Given the description of an element on the screen output the (x, y) to click on. 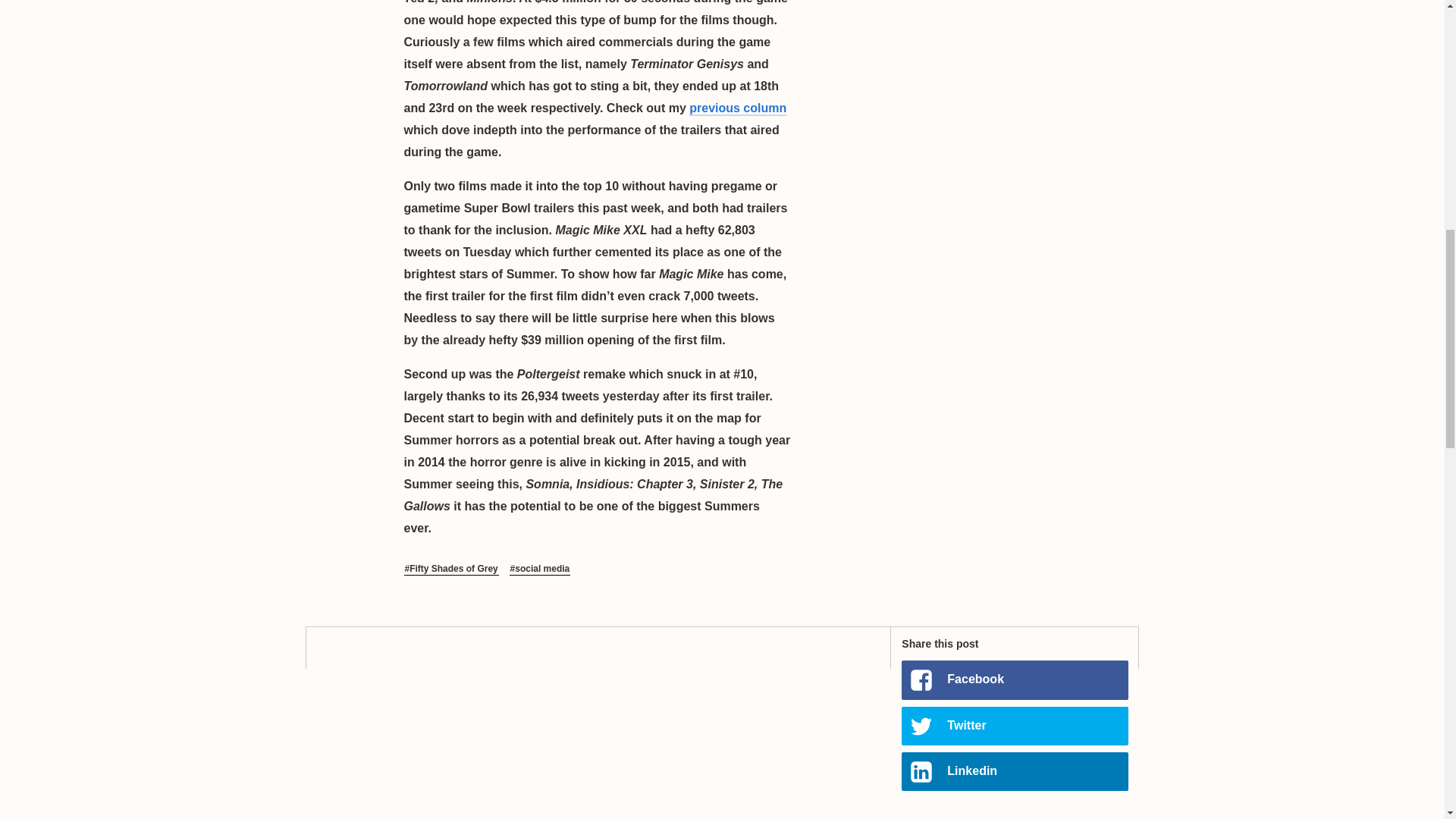
social media (539, 569)
Fifty Shades of Grey (450, 569)
Linkedin (1013, 771)
Facebook (1013, 679)
previous column (737, 108)
Twitter (1013, 725)
